Given the description of an element on the screen output the (x, y) to click on. 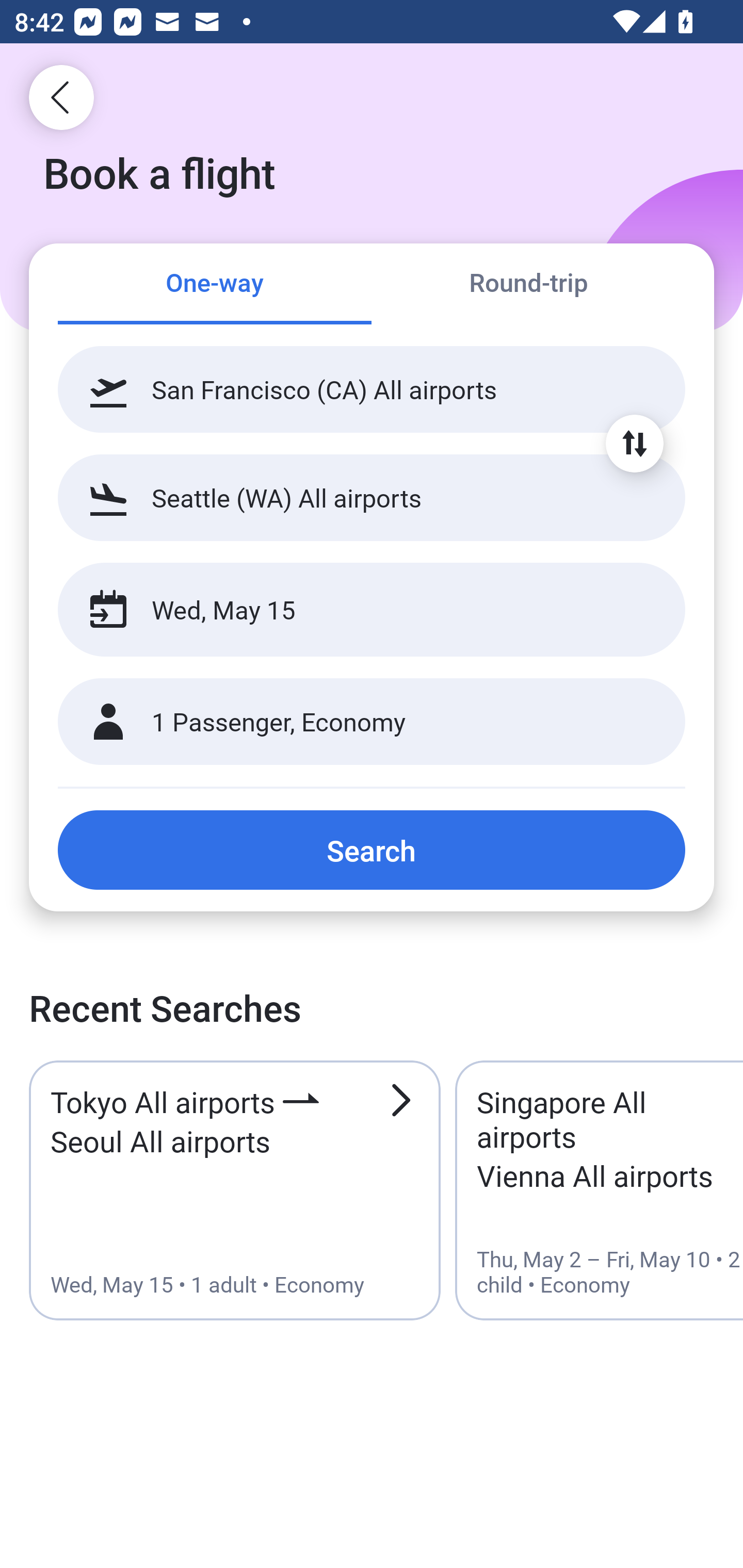
Round-trip (528, 284)
San Francisco (CA) All airports (371, 389)
Seattle (WA) All airports (371, 497)
Wed, May 15 (349, 609)
1 Passenger, Economy (371, 721)
Search (371, 849)
